Given the description of an element on the screen output the (x, y) to click on. 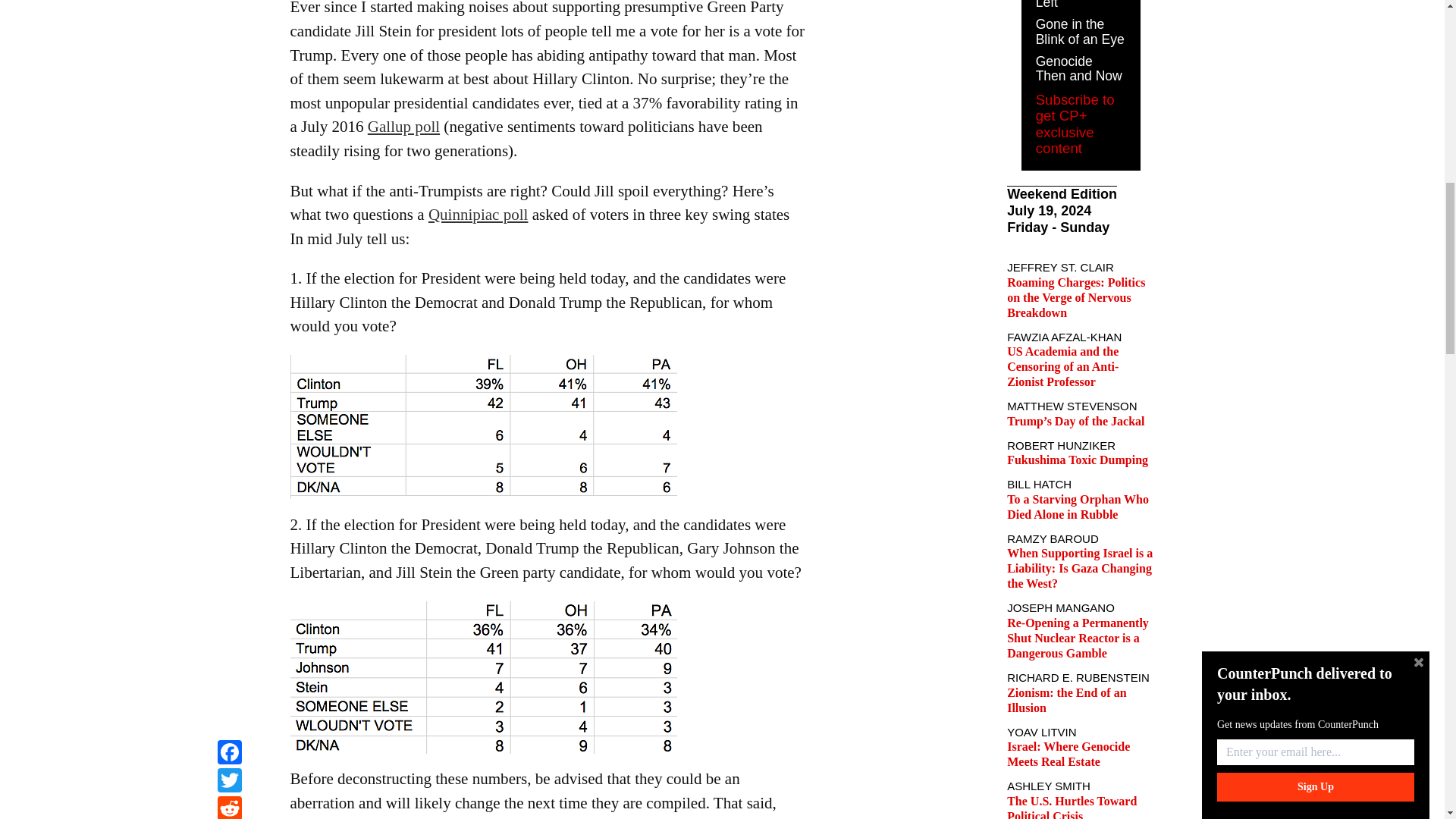
Gallup poll (403, 126)
Email (229, 18)
Quinnipiac poll (478, 214)
Reddit (229, 2)
Reddit (229, 2)
Email (229, 18)
